Given the description of an element on the screen output the (x, y) to click on. 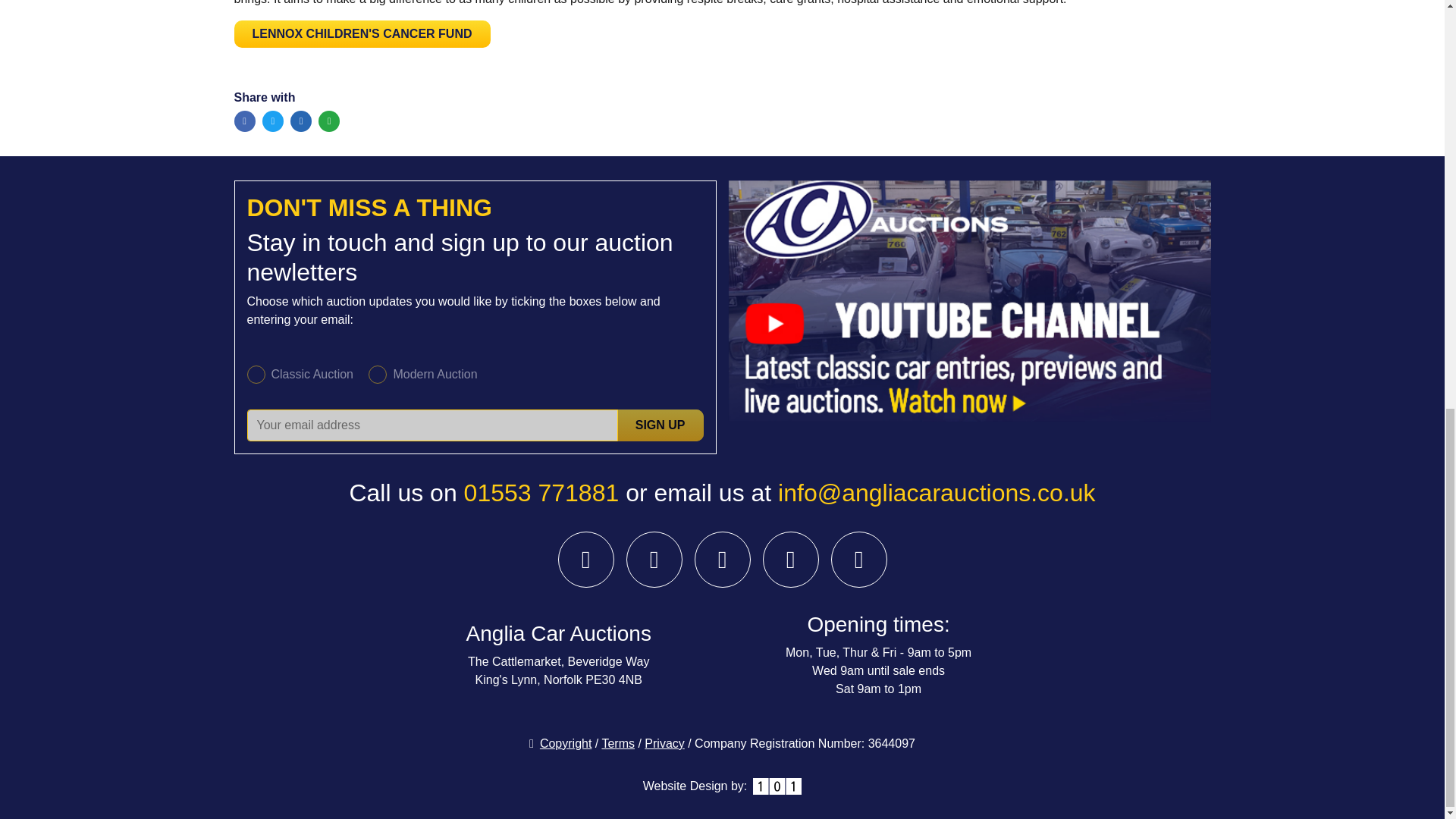
Twitter (272, 120)
true (255, 374)
LENNOX CHILDREN'S CANCER FUND (360, 32)
Facebook (243, 120)
LinkedIn (300, 120)
SIGN UP (660, 425)
true (377, 374)
Email (328, 120)
01553 771881 (542, 492)
